Given the description of an element on the screen output the (x, y) to click on. 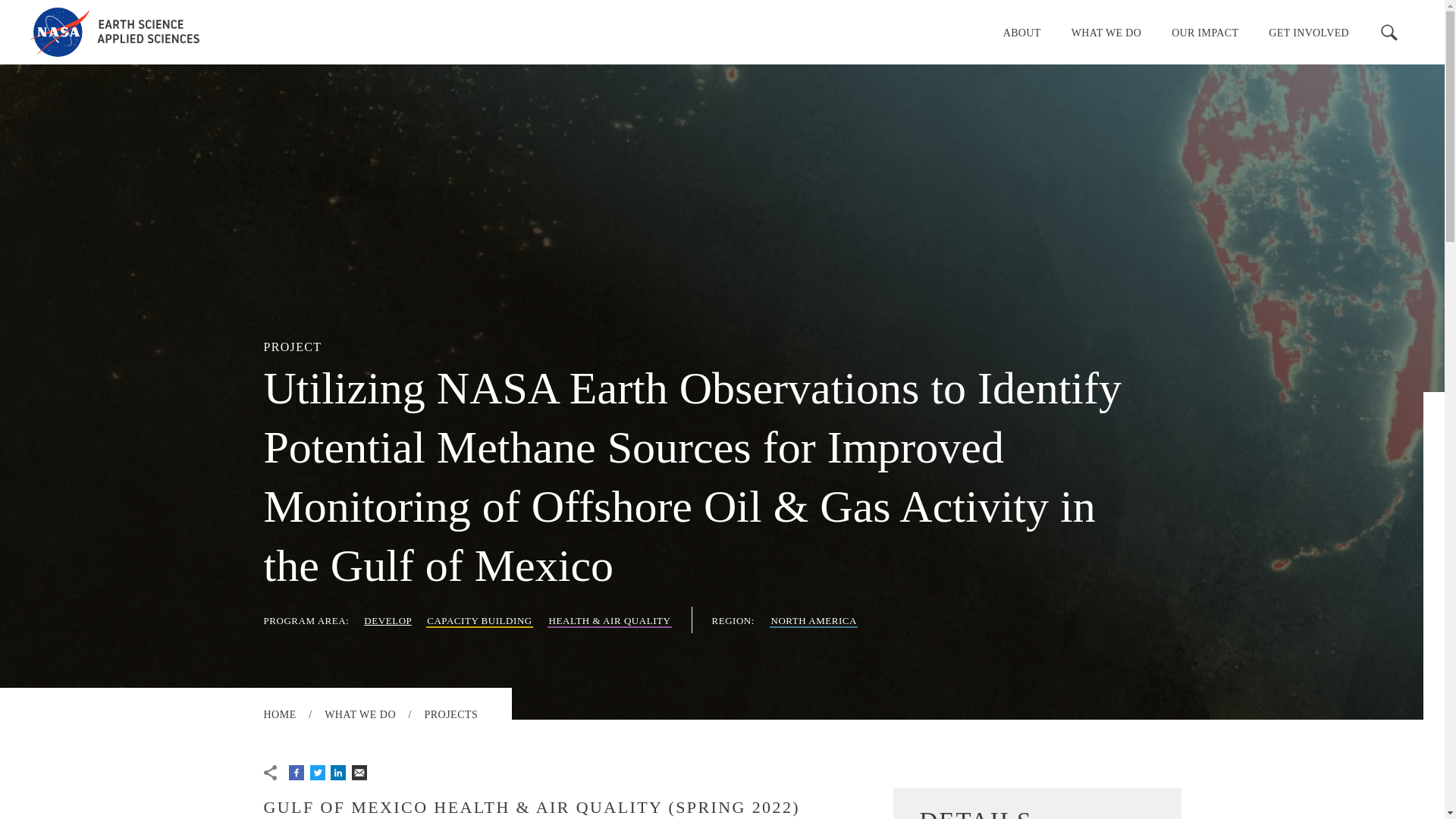
WHAT WE DO (1106, 32)
Home (114, 31)
ABOUT (1022, 32)
